Given the description of an element on the screen output the (x, y) to click on. 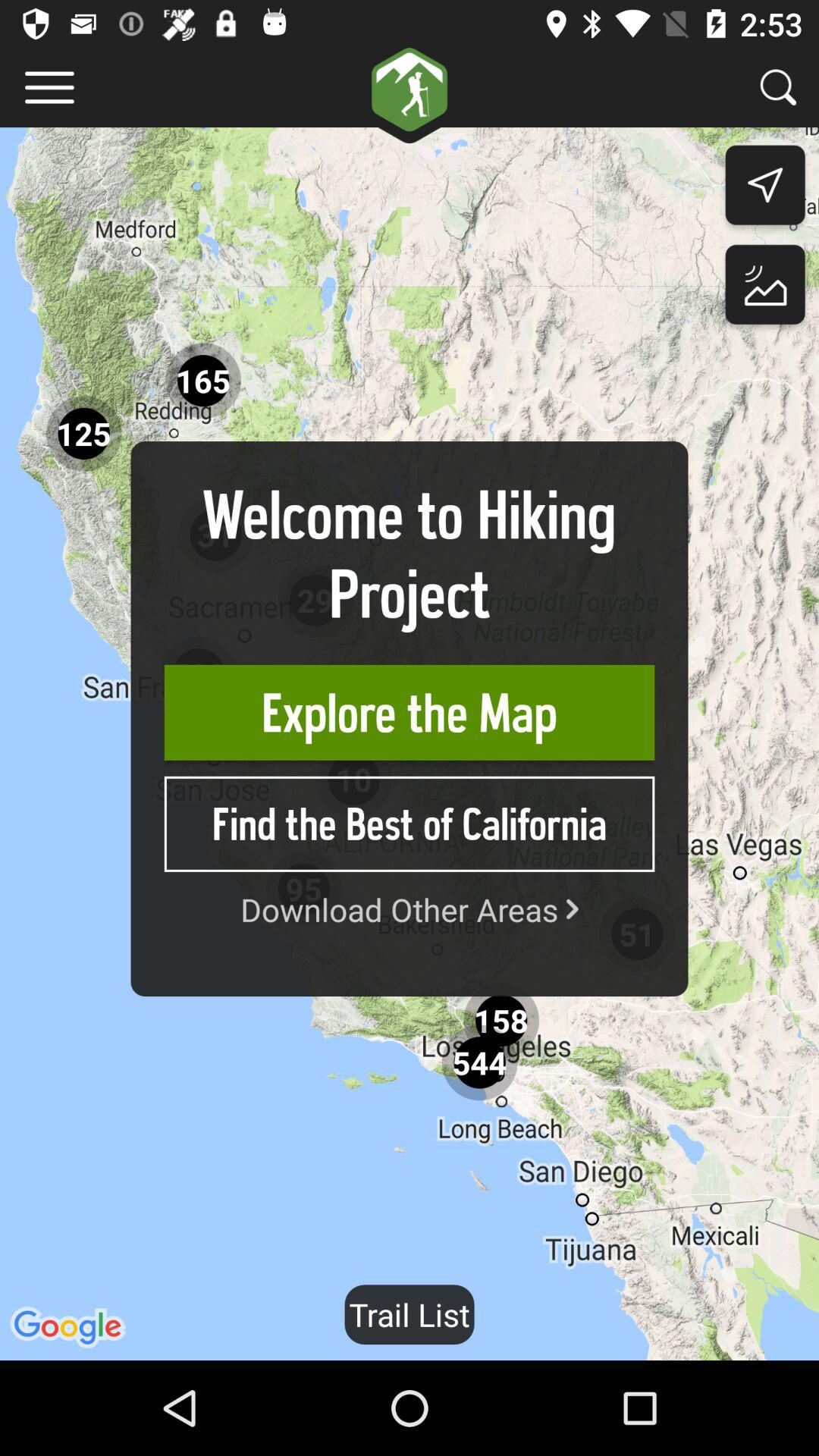
go to search (778, 87)
